Given the description of an element on the screen output the (x, y) to click on. 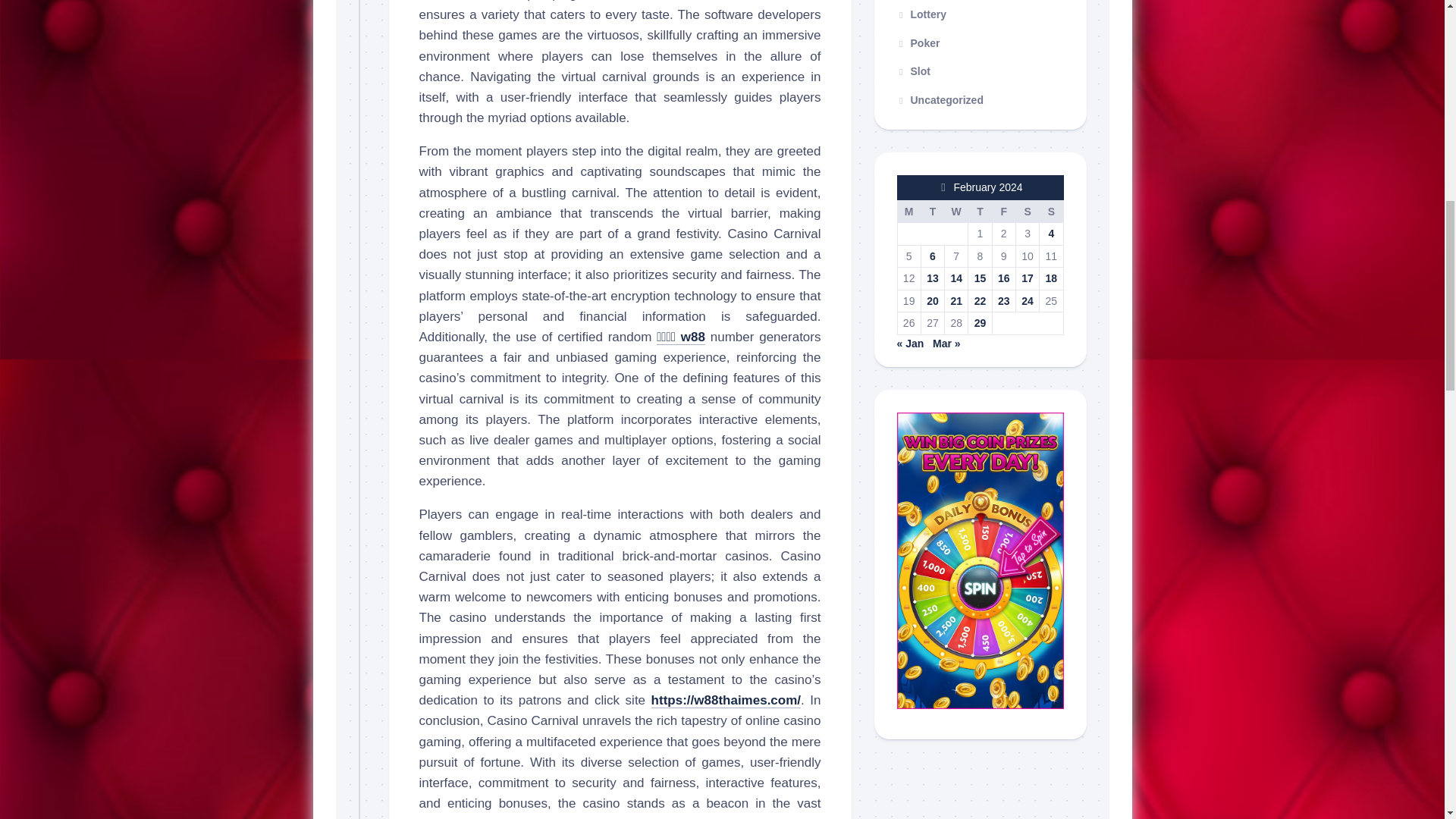
Slot (913, 70)
24 (1027, 300)
Friday (1002, 210)
Uncategorized (939, 100)
15 (980, 277)
Monday (908, 210)
29 (980, 322)
14 (956, 277)
22 (980, 300)
Lottery (920, 14)
